Given the description of an element on the screen output the (x, y) to click on. 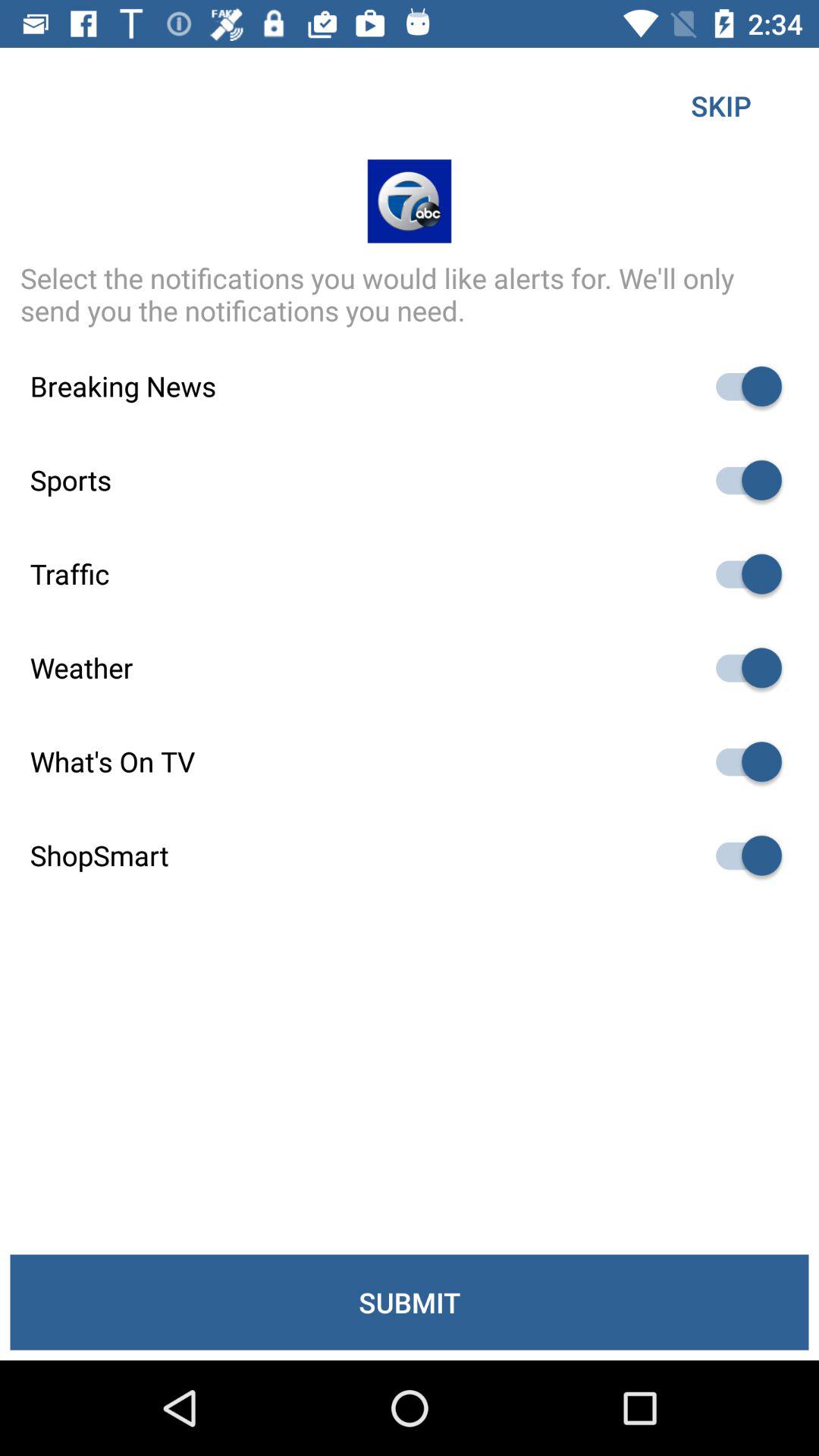
on button for tv notification (741, 761)
